Given the description of an element on the screen output the (x, y) to click on. 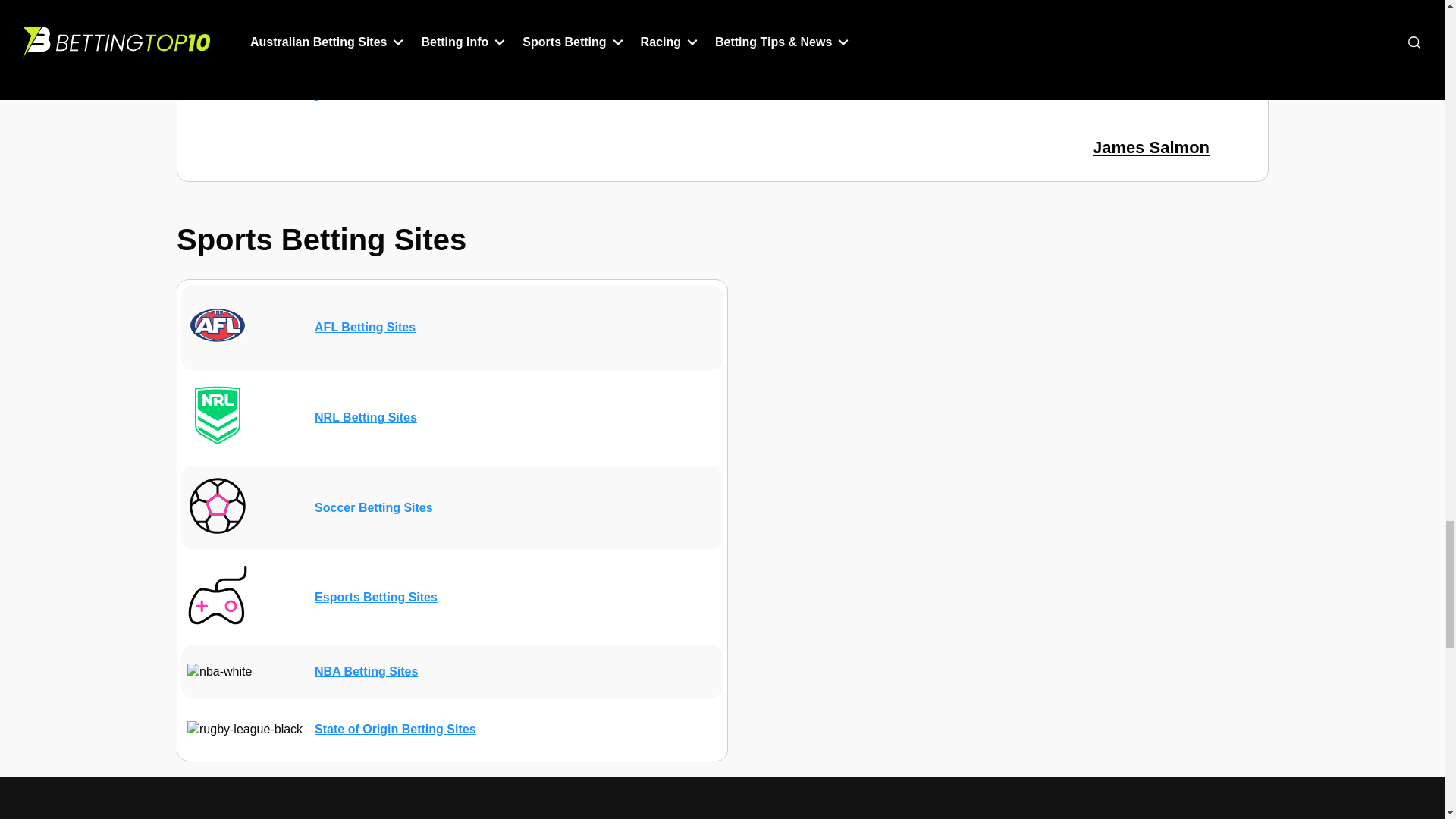
soccer-black (216, 505)
rugby-league-black (243, 729)
nrl (216, 414)
esports-black (216, 595)
AFL (216, 324)
nba-white (218, 671)
